Given the description of an element on the screen output the (x, y) to click on. 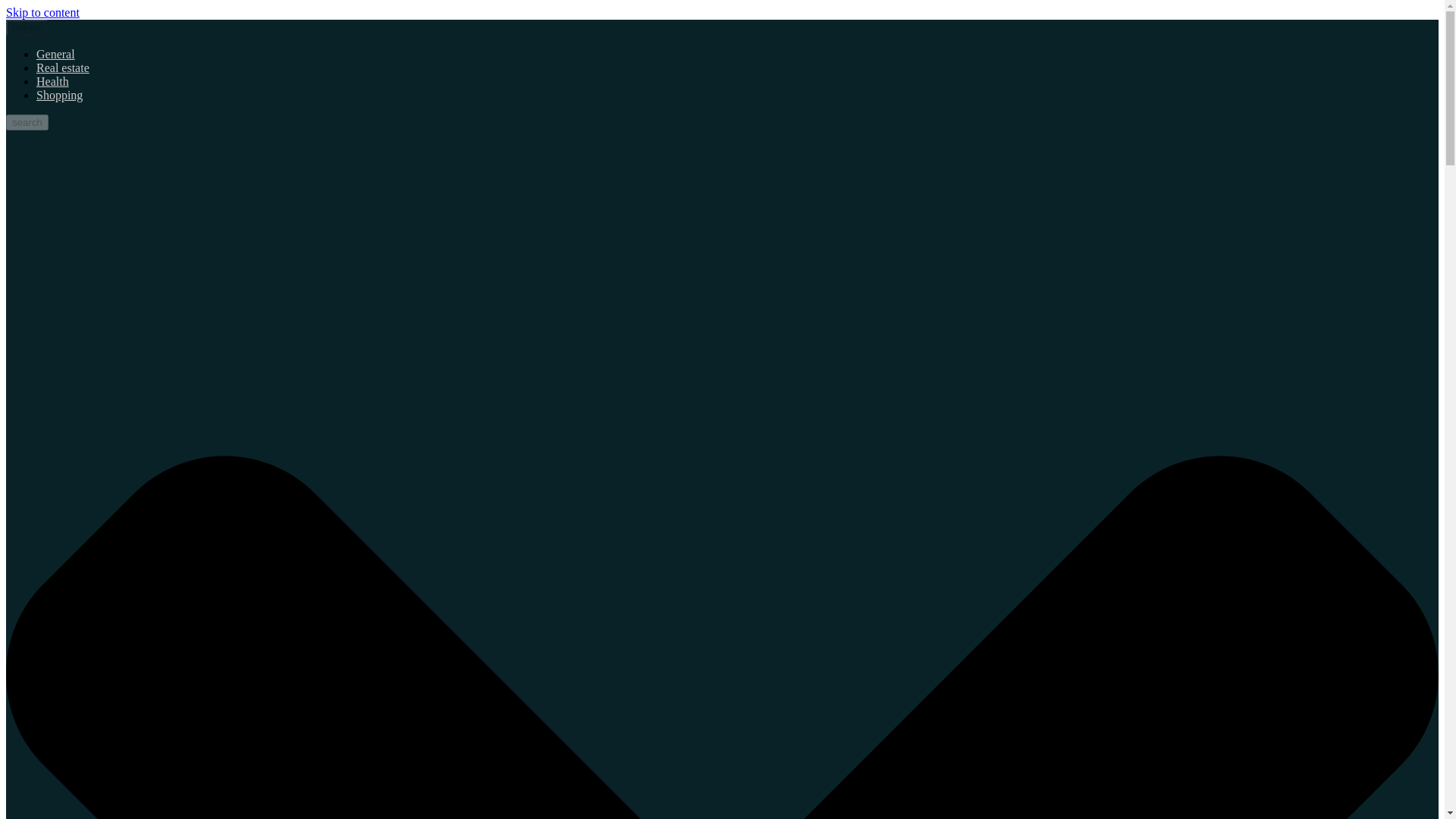
Health (52, 81)
General (55, 53)
Real estate (62, 67)
search (26, 122)
burger (26, 27)
Shopping (59, 94)
Skip to content (42, 11)
